Given the description of an element on the screen output the (x, y) to click on. 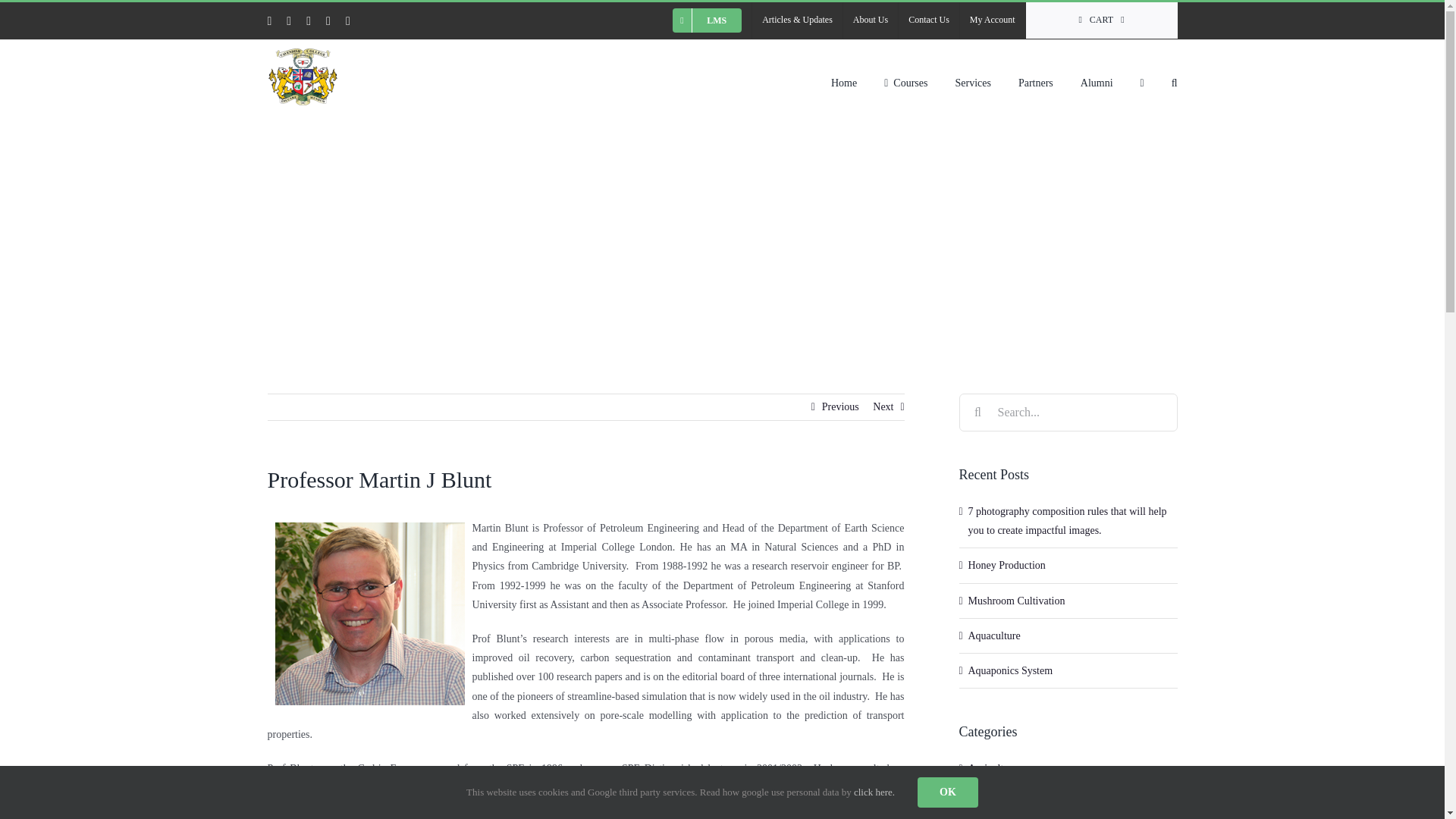
LMS (706, 20)
CART (1101, 20)
About Us (870, 20)
Log In (1066, 181)
Contact Us (928, 20)
My Account (992, 20)
